Given the description of an element on the screen output the (x, y) to click on. 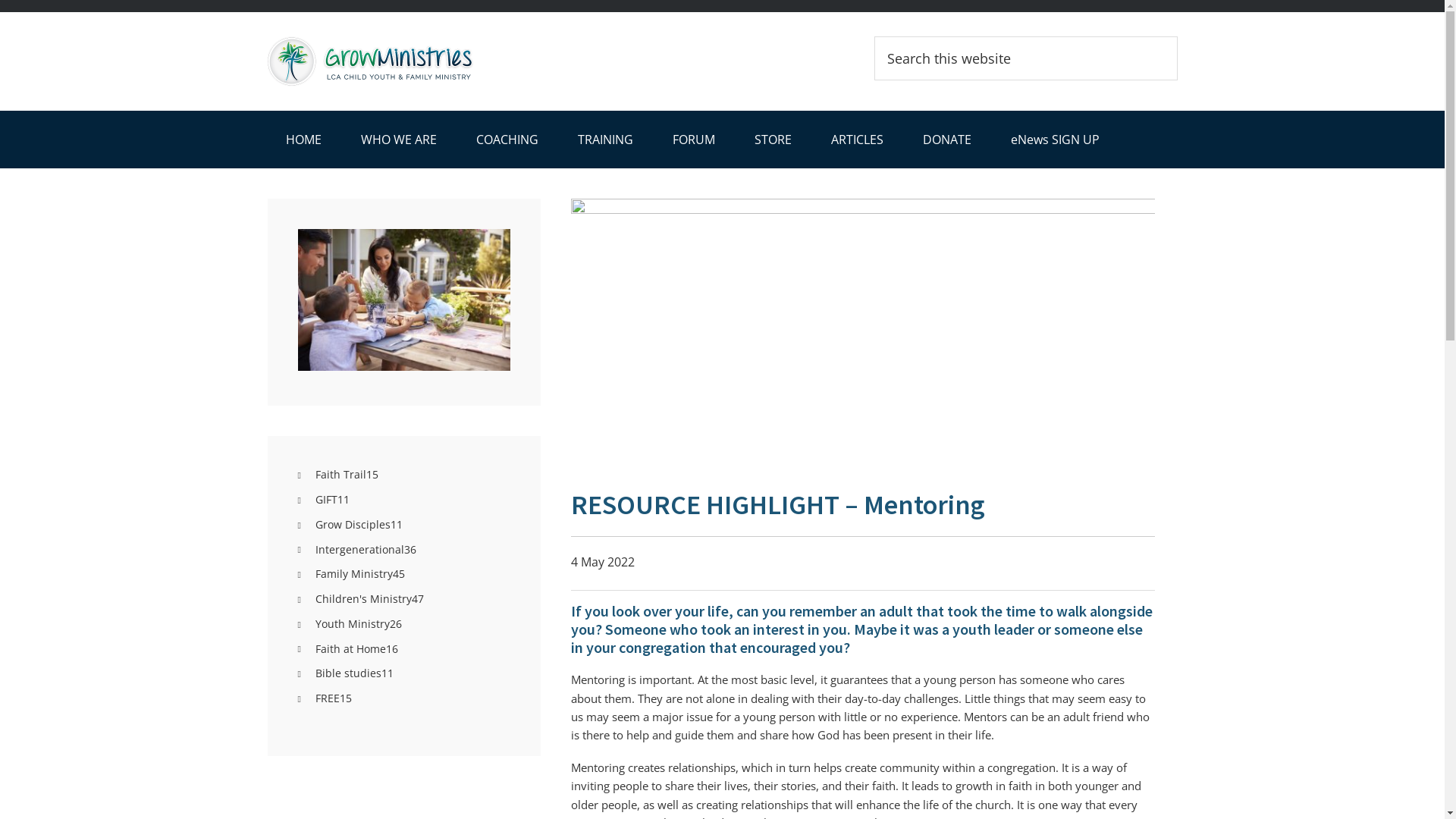
Intergenerational Element type: text (359, 549)
DONATE Element type: text (945, 139)
WHO WE ARE Element type: text (398, 139)
ARTICLES Element type: text (856, 139)
Search Element type: text (1176, 35)
Faith at Home Element type: text (350, 648)
FORUM Element type: text (692, 139)
Grow Ministries Element type: text (402, 60)
Faith Trail Element type: text (340, 474)
FREE Element type: text (327, 697)
Grow Disciples Element type: text (352, 524)
Bible studies Element type: text (348, 672)
Skip to primary navigation Element type: text (0, 0)
Children's Ministry Element type: text (363, 598)
HOME Element type: text (302, 139)
STORE Element type: text (772, 139)
GIFT Element type: text (326, 499)
Family Ministry Element type: text (353, 573)
Youth Ministry Element type: text (352, 623)
TRAINING Element type: text (605, 139)
COACHING Element type: text (507, 139)
eNews SIGN UP Element type: text (1054, 139)
